Given the description of an element on the screen output the (x, y) to click on. 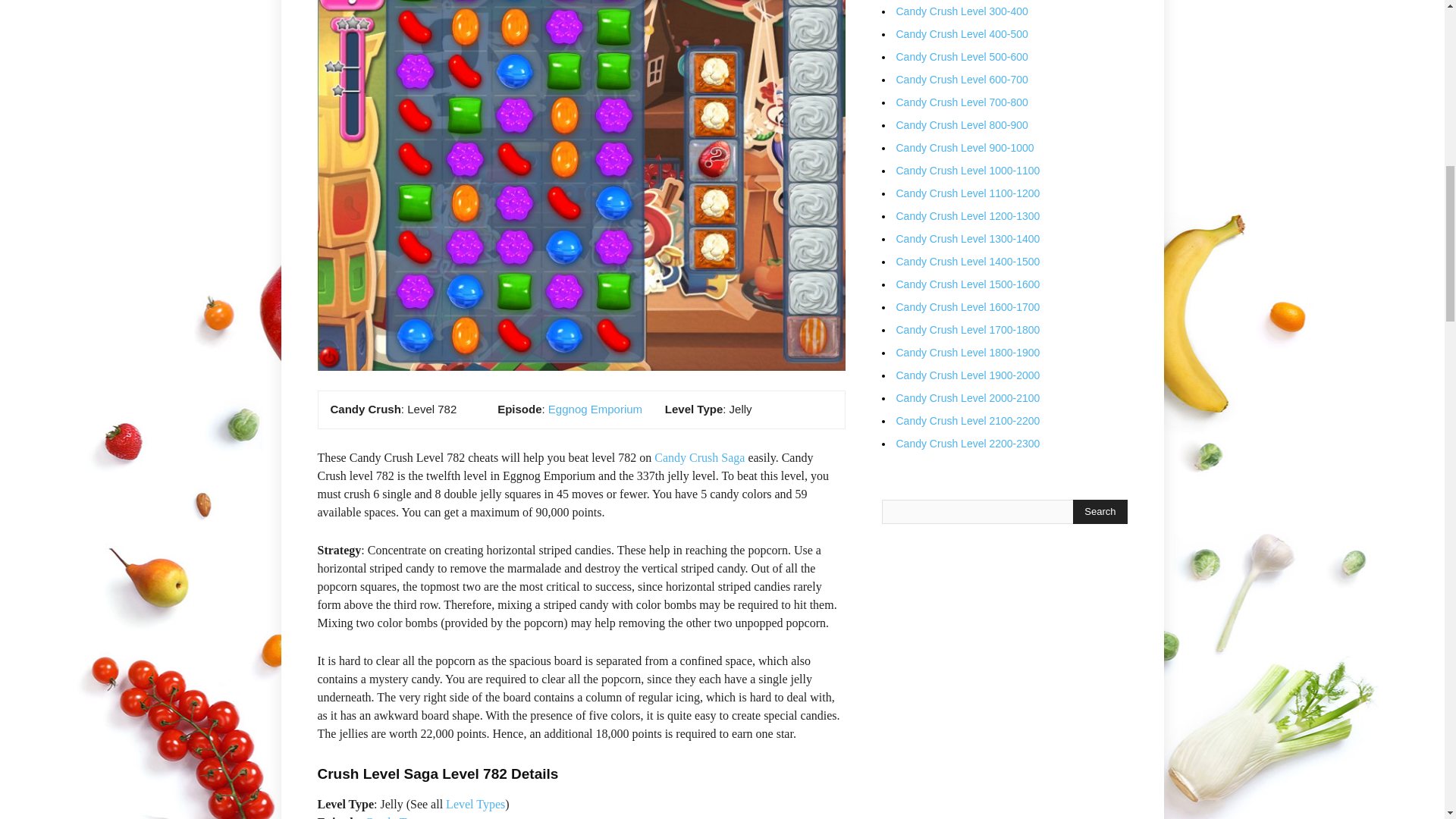
Search (1099, 511)
